Given the description of an element on the screen output the (x, y) to click on. 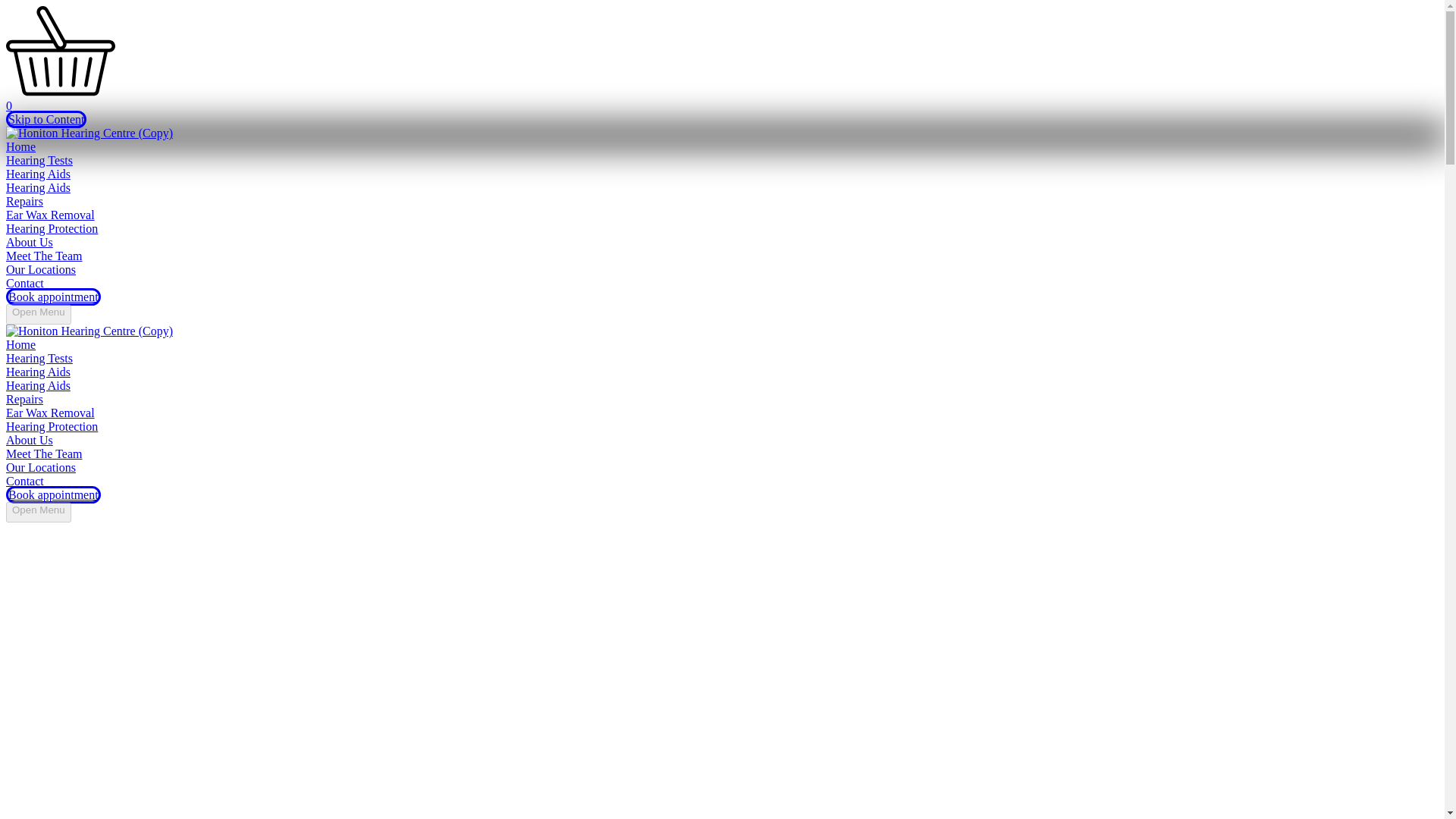
Hearing Tests (38, 160)
Open Menu (38, 512)
Repairs (24, 201)
Skip to Content (45, 118)
Contact (24, 481)
Our Locations (40, 269)
Contact (24, 282)
Ear Wax Removal (49, 214)
Home (19, 146)
Hearing Aids (37, 187)
Hearing Aids (37, 173)
Repairs (24, 399)
Home (19, 344)
Hearing Tests (38, 358)
Hearing Aids (37, 385)
